Given the description of an element on the screen output the (x, y) to click on. 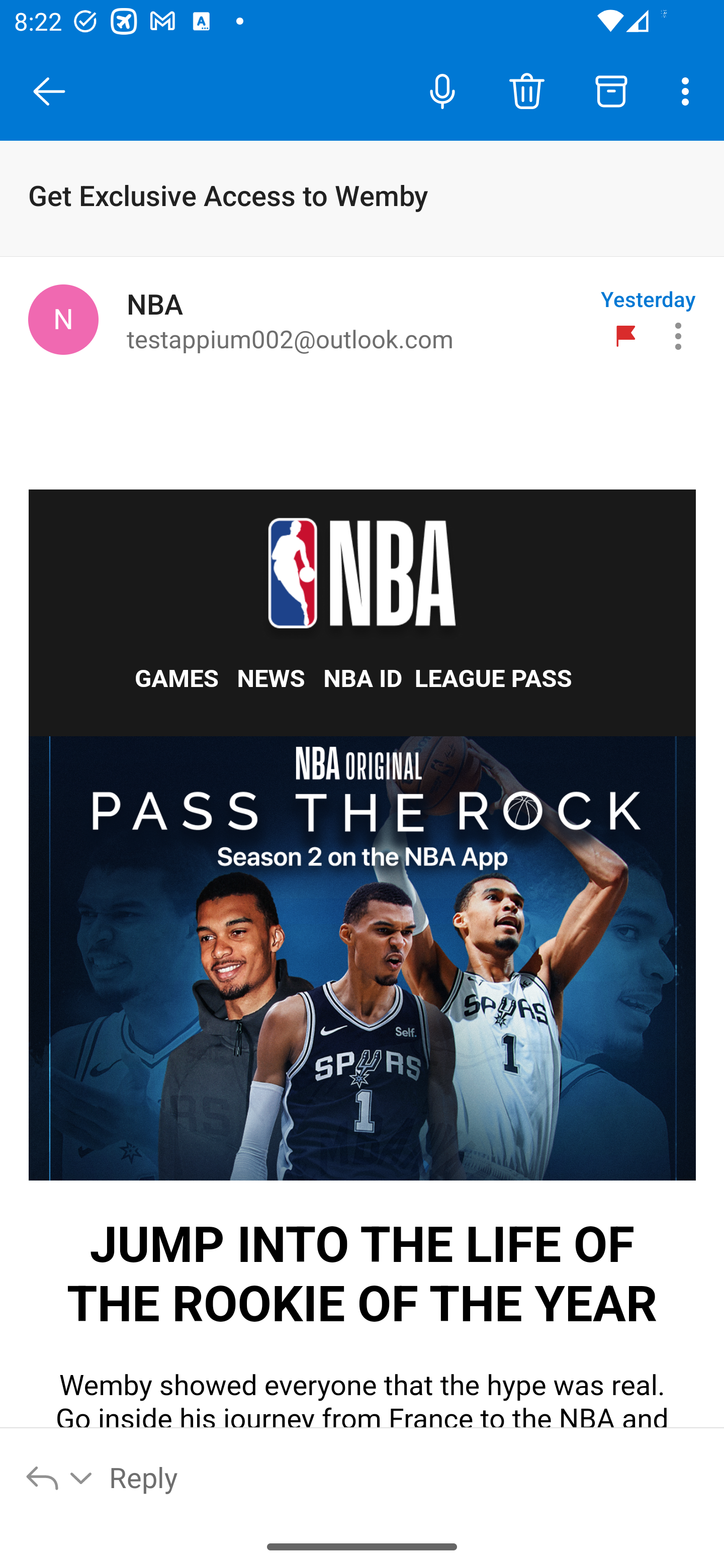
Close (49, 91)
Delete (526, 90)
Archive (611, 90)
More options (688, 90)
NBA, NBA@email.nba.com (63, 318)
NBA
to testappium002@outlook.com (356, 319)
Message actions (678, 336)
GAMES (176, 678)
NEWS (271, 678)
NBA ID (362, 678)
LEAGUE PASS (492, 678)
JUMP INTO THE LIFE OF THE ROOKIE OF THE YEAR (362, 958)
Reply options (59, 1476)
